Given the description of an element on the screen output the (x, y) to click on. 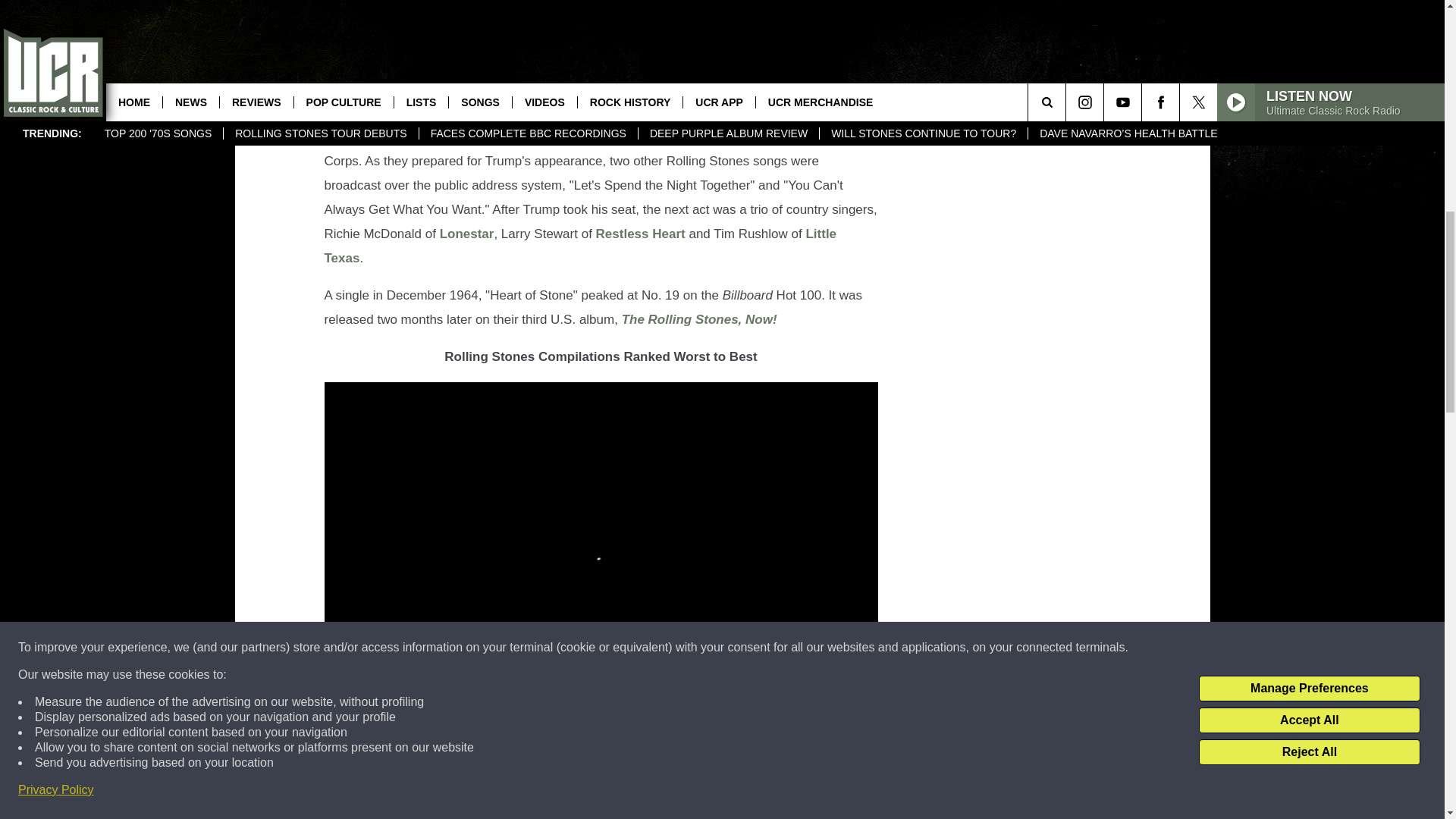
said (505, 51)
